Given the description of an element on the screen output the (x, y) to click on. 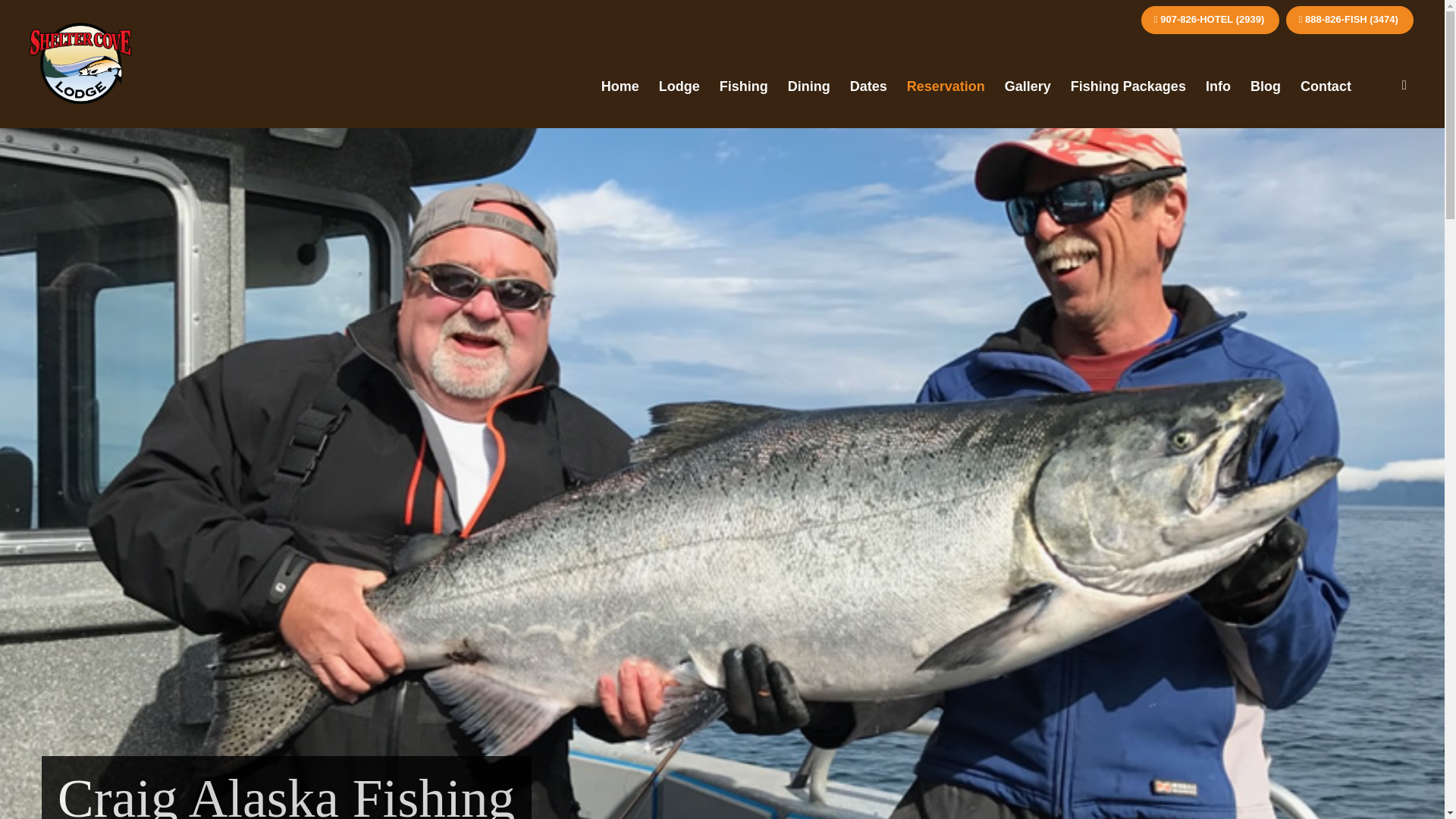
Fishing Packages (1128, 86)
Reservation (945, 86)
ShelterCove-logo (80, 63)
Facebook (1404, 85)
